Given the description of an element on the screen output the (x, y) to click on. 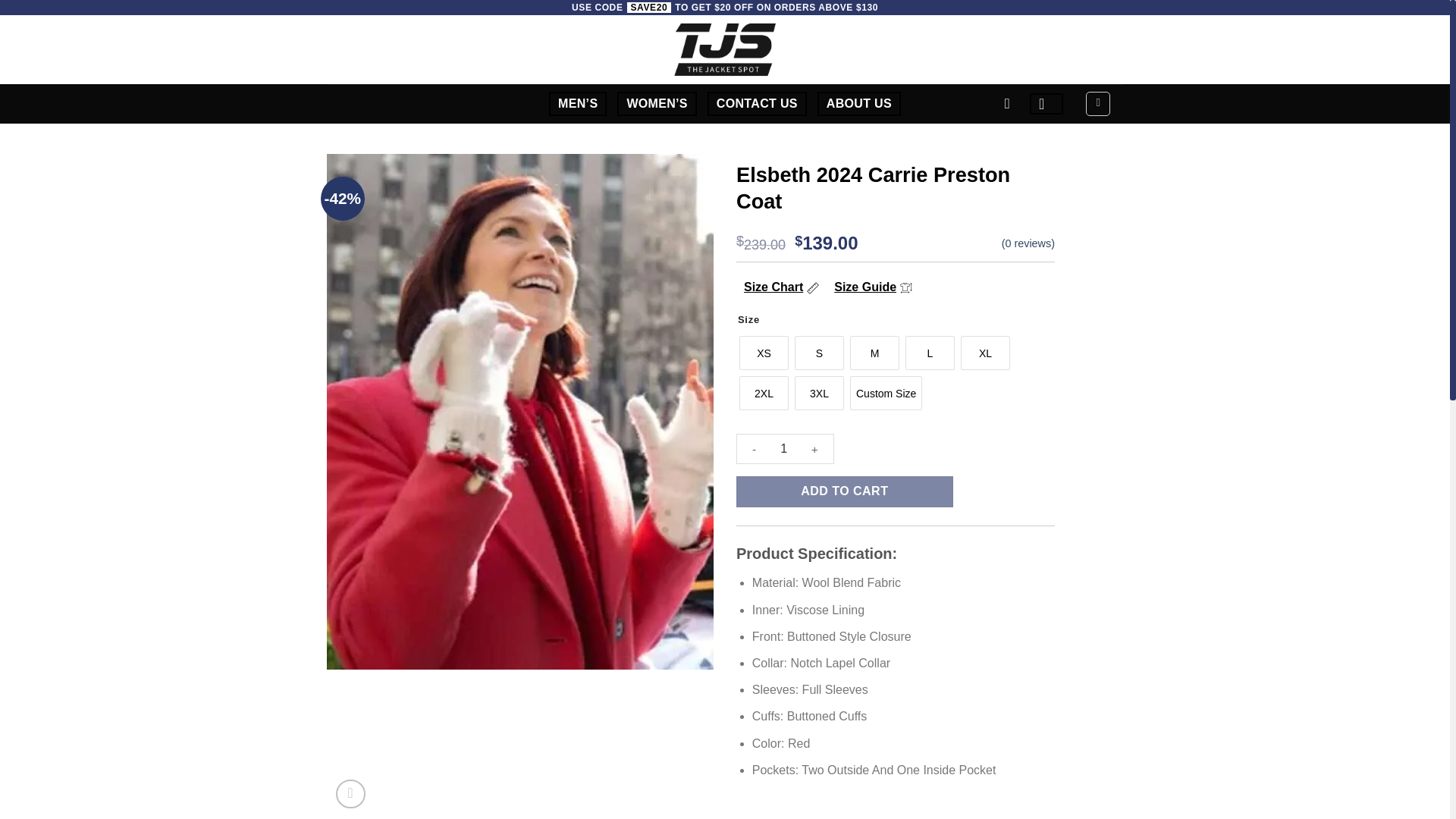
Size Guide (873, 287)
3XL (819, 392)
ABOUT US (858, 103)
L (930, 352)
Cart (1097, 103)
The Jacket Spot (724, 49)
CONTACT US (756, 103)
XL (985, 352)
S (819, 352)
ADD TO CART (844, 490)
M (874, 352)
Custom Size (885, 392)
Size Chart (781, 287)
2XL (764, 392)
- (753, 449)
